Given the description of an element on the screen output the (x, y) to click on. 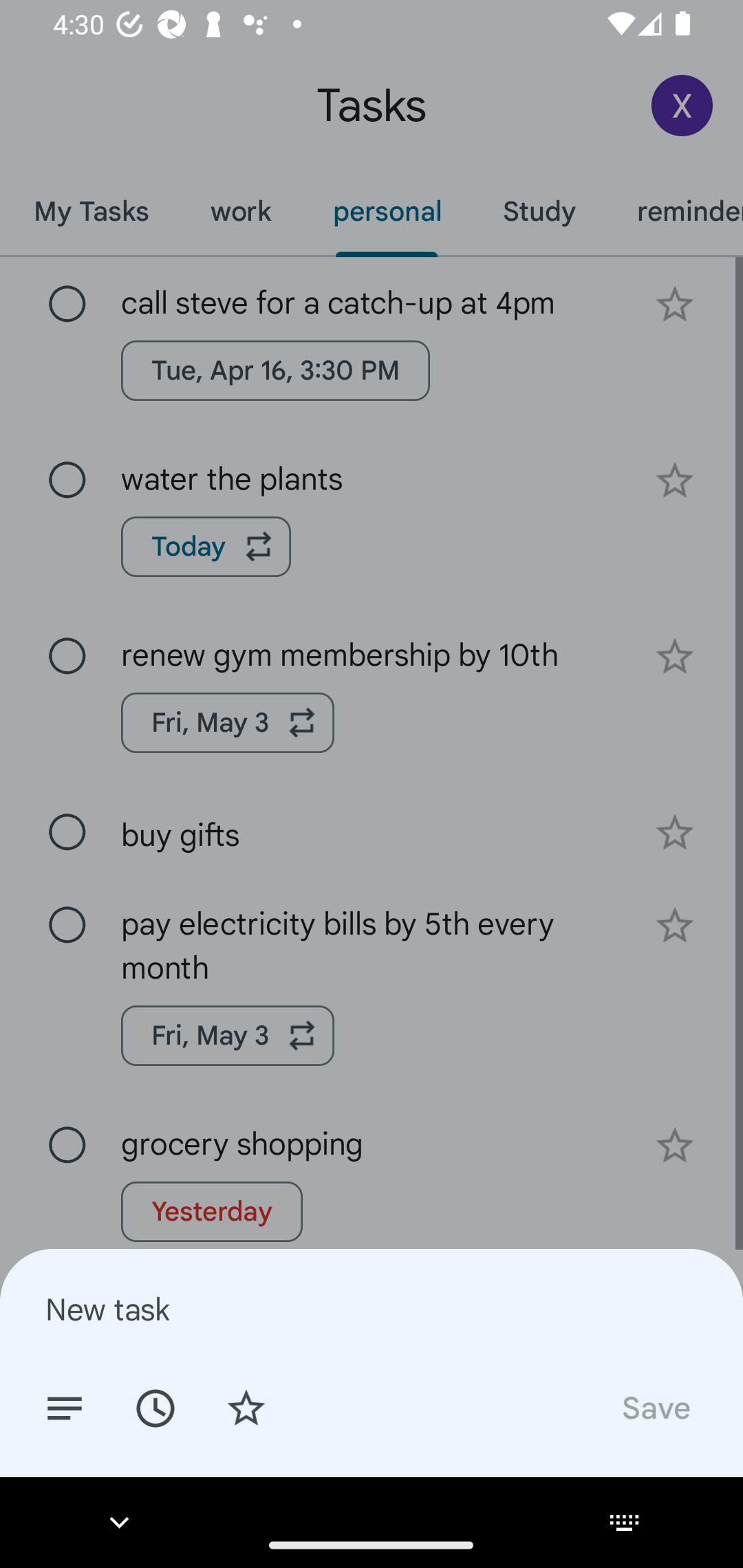
New task (371, 1308)
Save (655, 1407)
Add details (64, 1407)
Set date/time (154, 1407)
Add star (245, 1407)
